Given the description of an element on the screen output the (x, y) to click on. 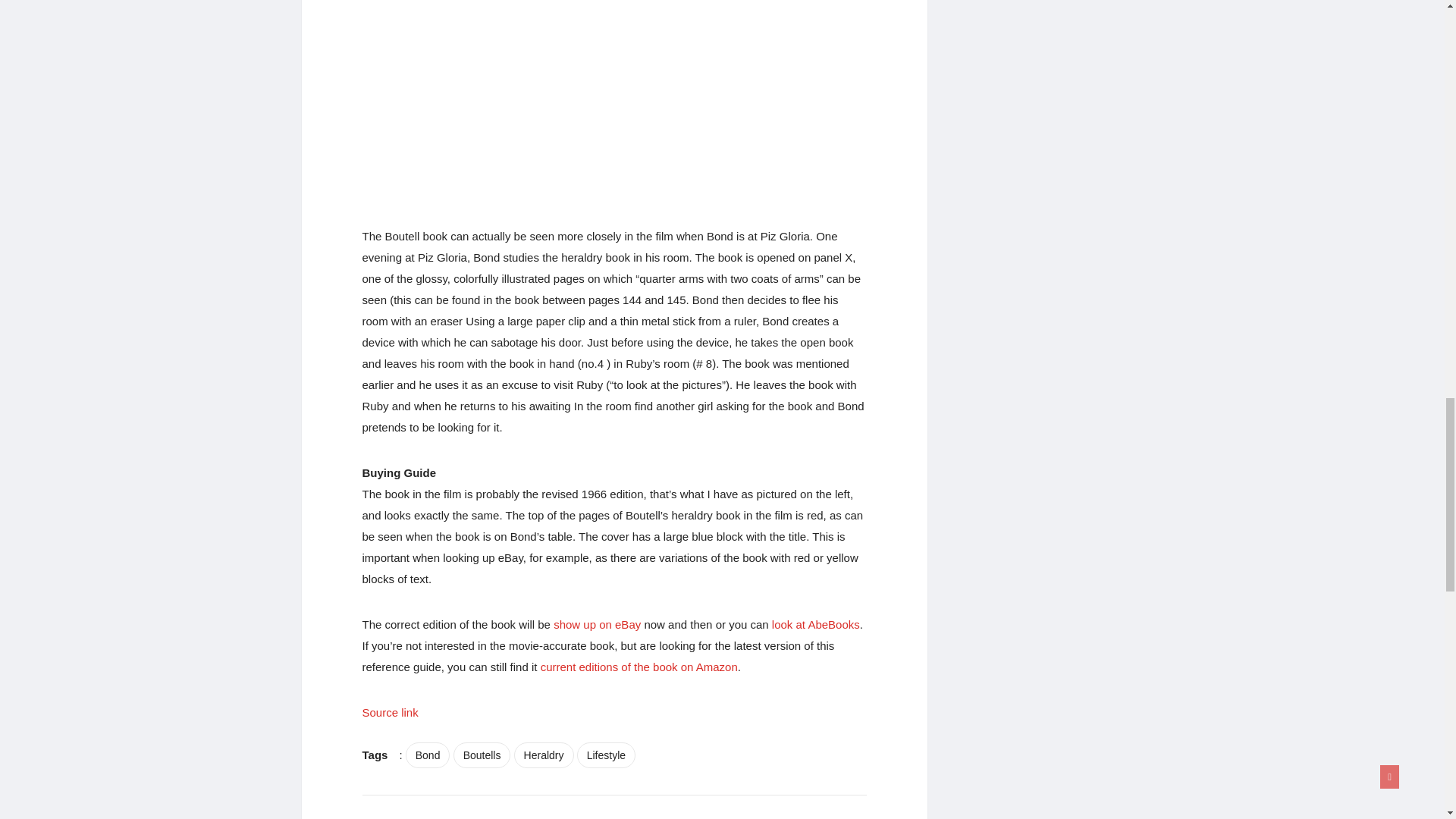
current editions of the book on Amazon (639, 666)
Heraldry (543, 755)
show up on eBay (596, 624)
Boutells (481, 755)
look at AbeBooks (815, 624)
Lifestyle (605, 755)
Source link (390, 712)
Bond (427, 755)
